Given the description of an element on the screen output the (x, y) to click on. 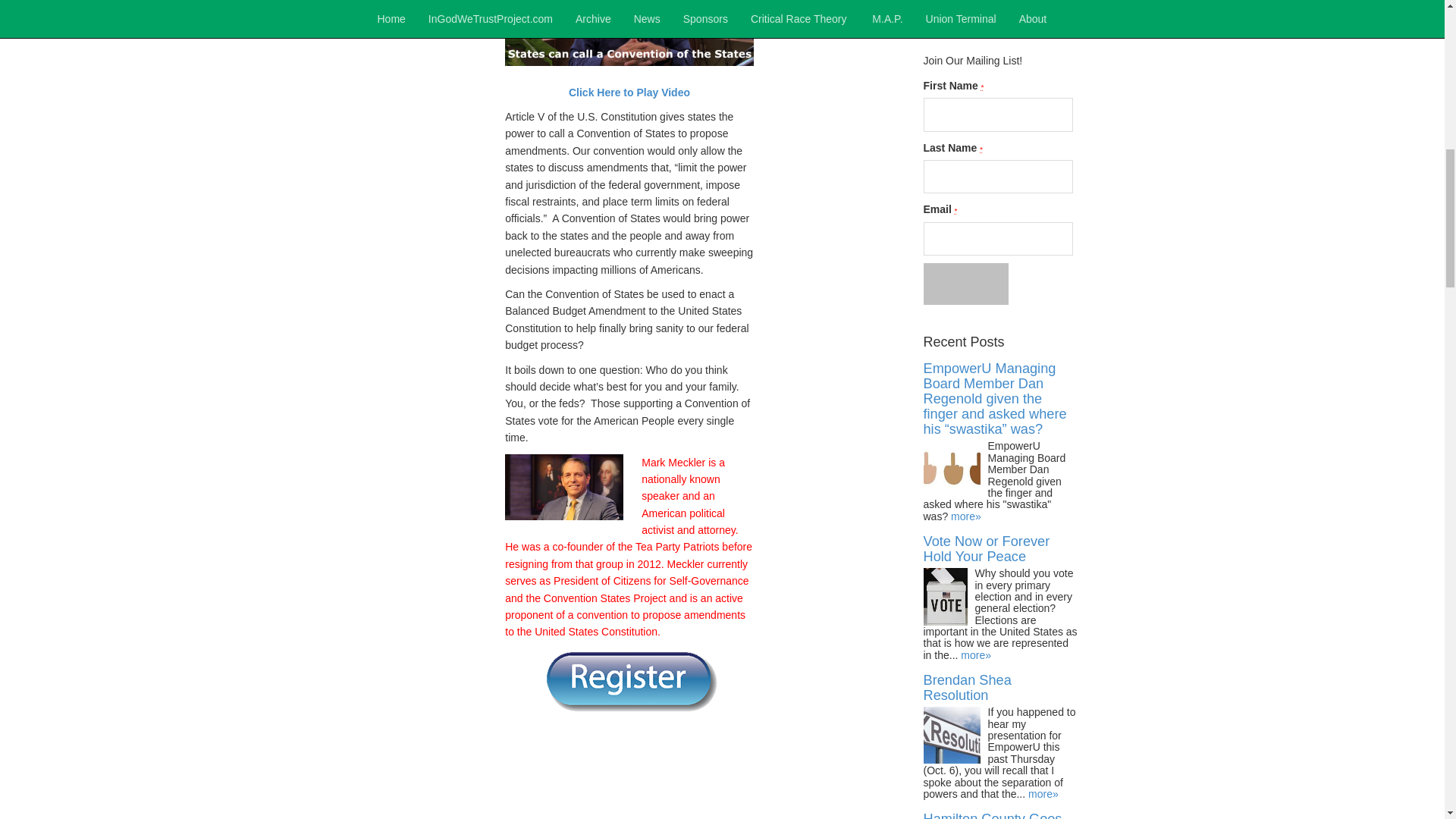
Sign Up (966, 282)
Class Registration (629, 680)
Sign Up (966, 282)
Click Here to Play Video (629, 92)
Search for: (1000, 20)
Brendan Shea Resolution (967, 687)
Vote Now or Forever Hold Your Peace (986, 548)
